Given the description of an element on the screen output the (x, y) to click on. 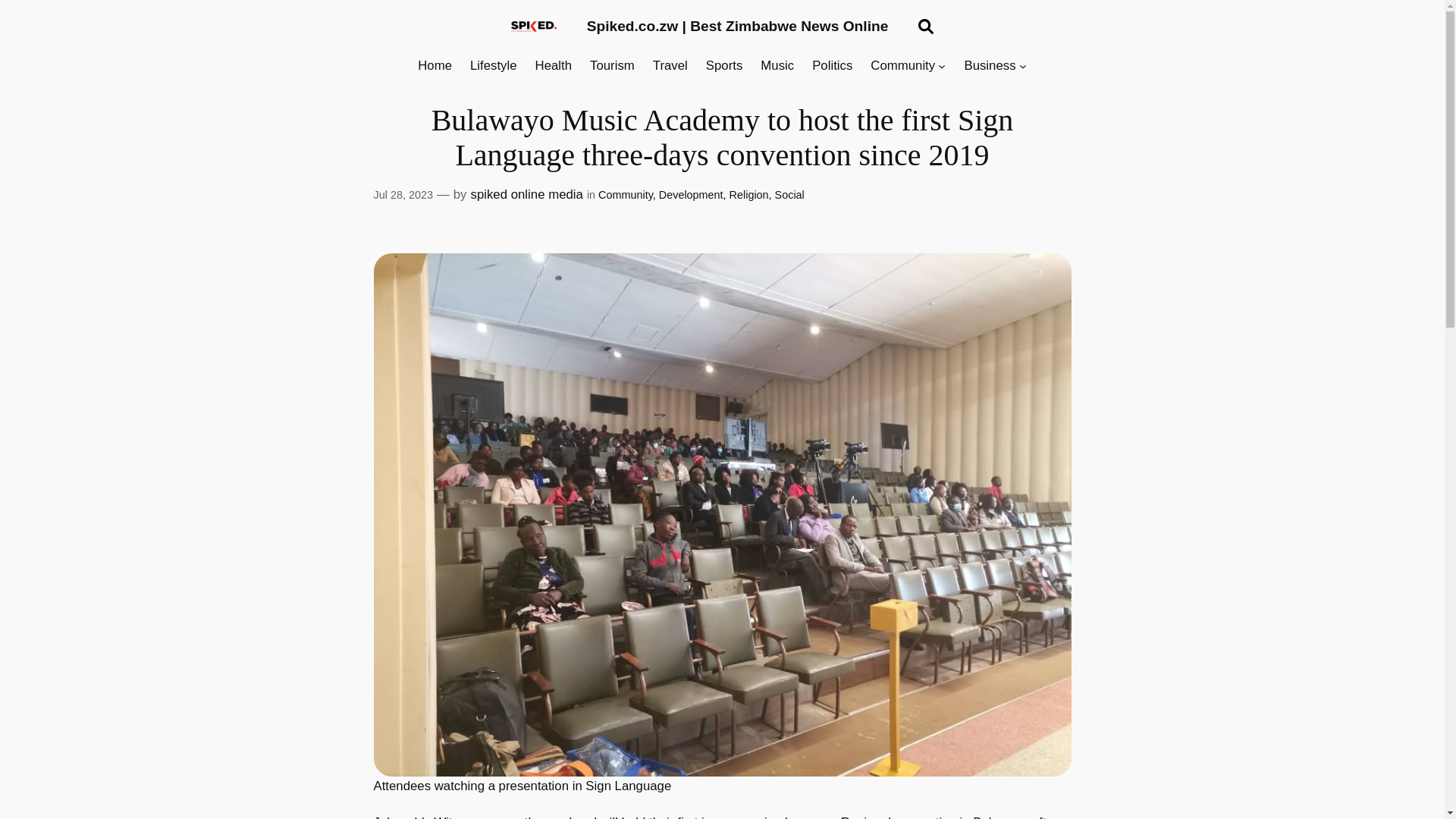
Development (691, 194)
Health (553, 66)
Music (776, 66)
Religion (748, 194)
Tourism (611, 66)
Community (902, 66)
Jul 28, 2023 (402, 194)
Home (434, 66)
Politics (831, 66)
Lifestyle (493, 66)
